Given the description of an element on the screen output the (x, y) to click on. 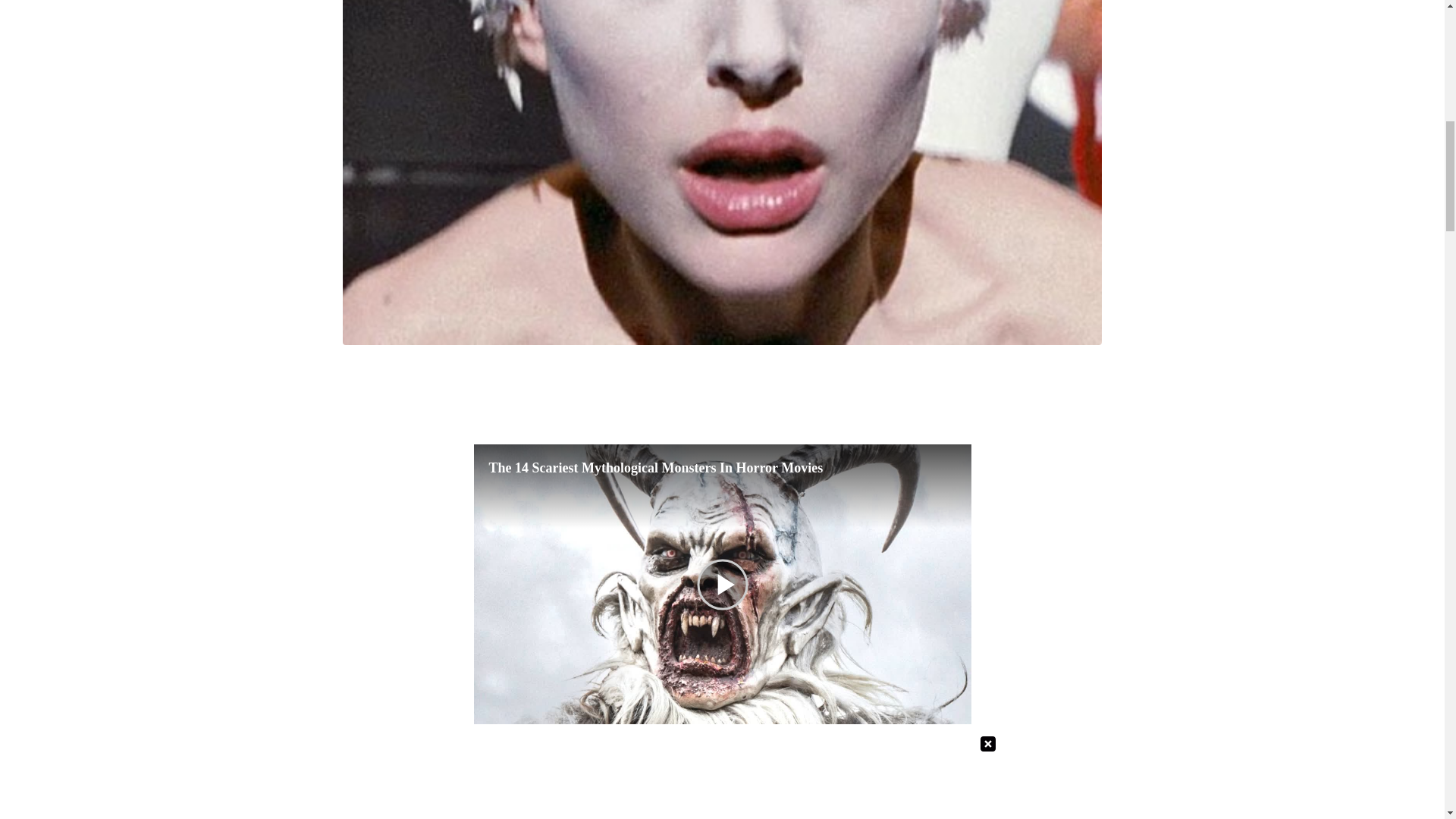
quoted (780, 796)
Black Swan (548, 796)
Darren Aronofsky (838, 771)
